Given the description of an element on the screen output the (x, y) to click on. 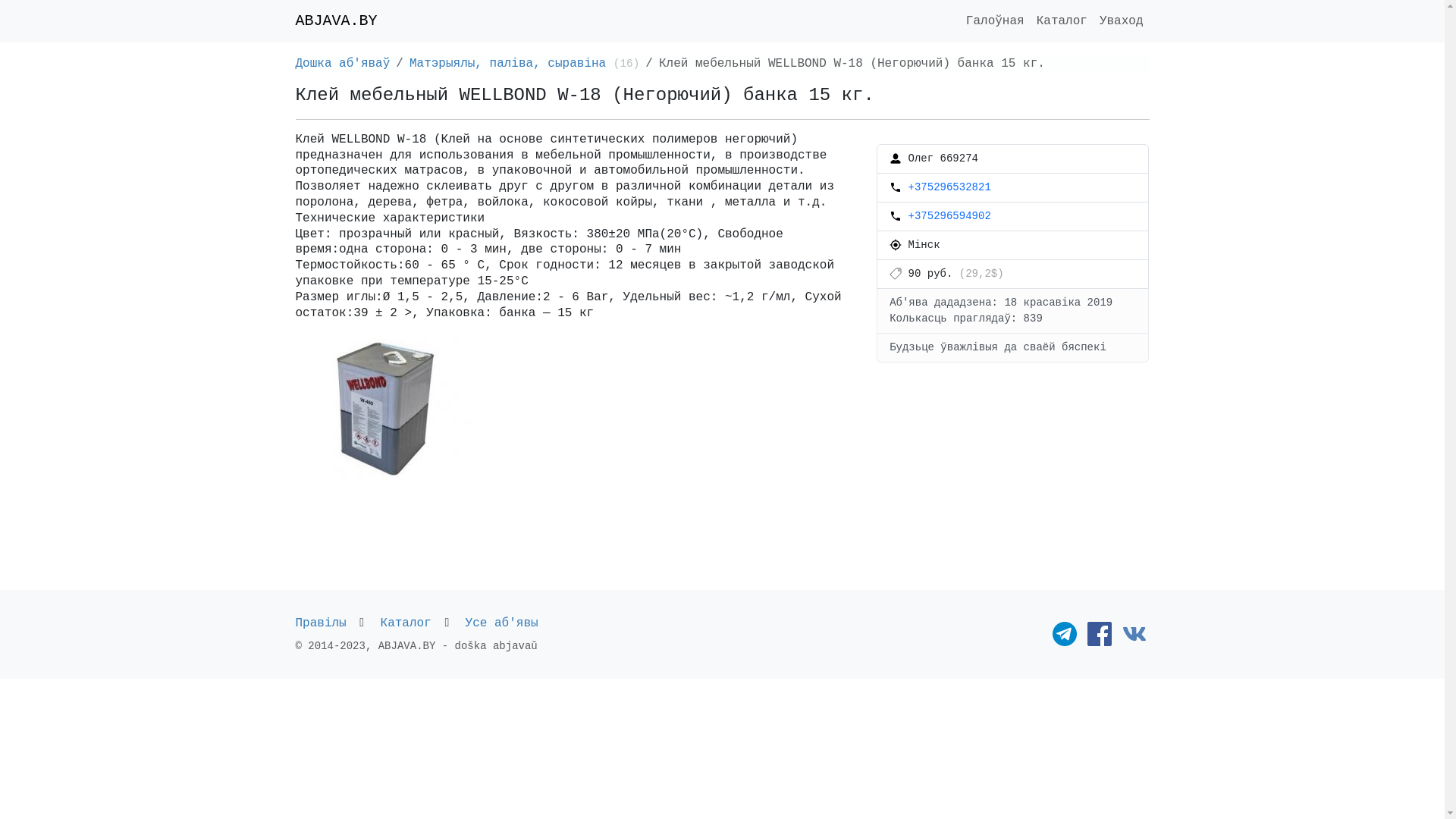
+375296594902 Element type: text (949, 216)
+375296532821 Element type: text (949, 187)
ABJAVA.BY Element type: text (336, 21)
Advertisement Element type: hover (1012, 480)
